Given the description of an element on the screen output the (x, y) to click on. 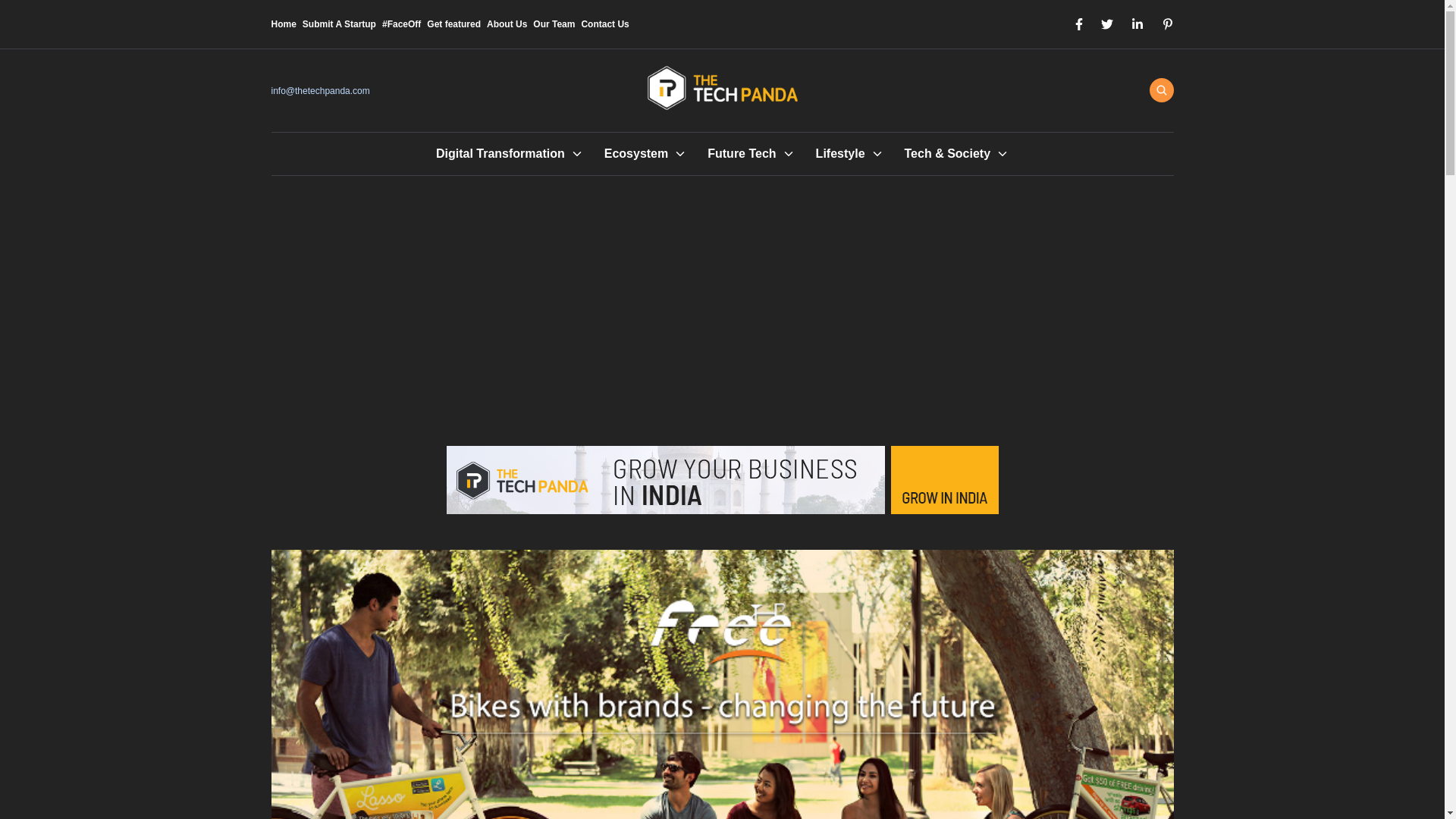
Digital Transformation (499, 153)
Lifestyle (839, 153)
Get featured (453, 24)
Ecosystem (636, 153)
Contact Us (604, 24)
Submit A Startup (338, 24)
Our Team (553, 24)
Home (283, 24)
About Us (506, 24)
